Given the description of an element on the screen output the (x, y) to click on. 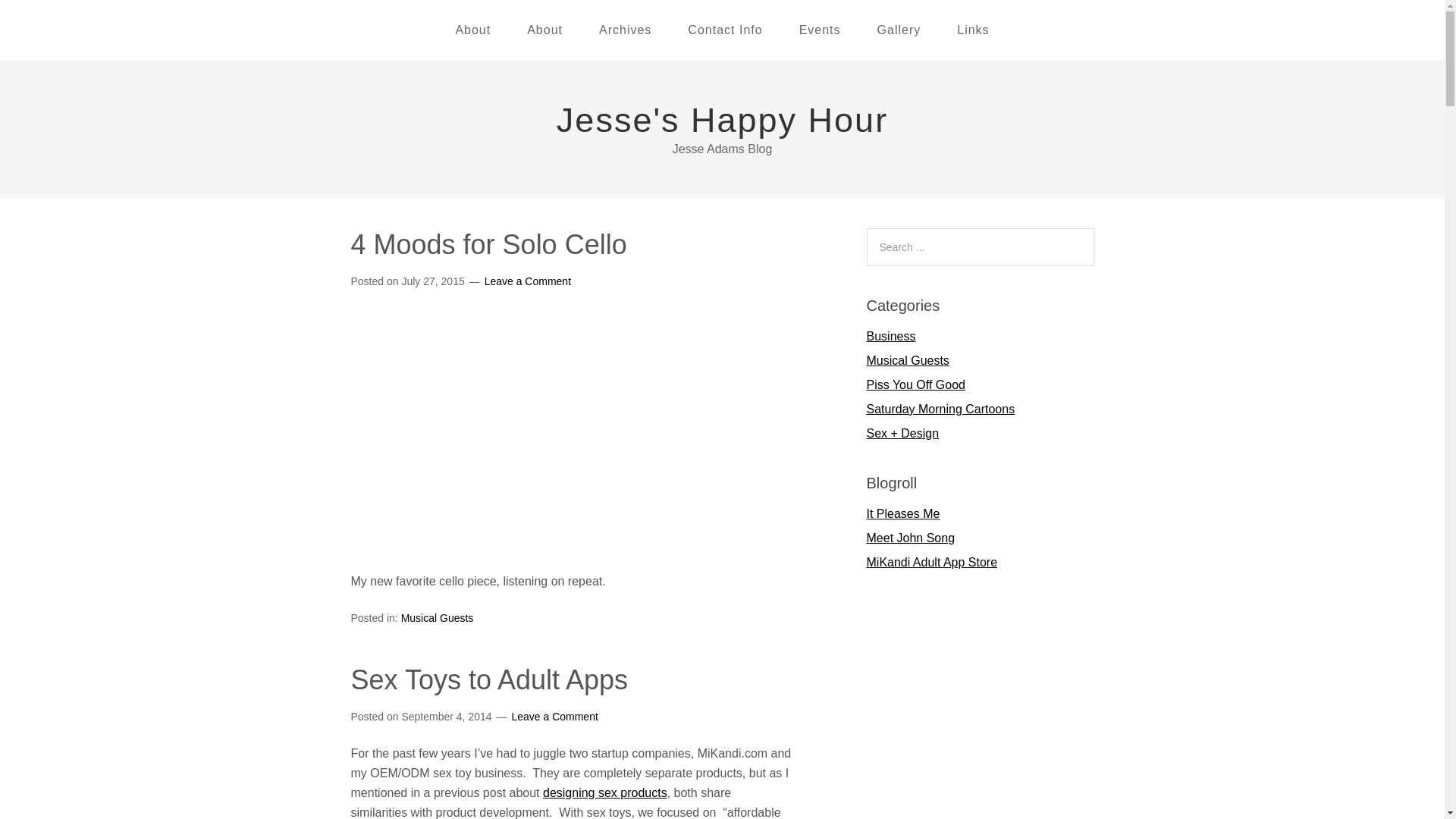
Adult App Store (931, 562)
Gallery (899, 30)
About (472, 30)
Monday, July 27, 2015, 8:16 pm (432, 281)
Contact Info (724, 30)
Archives (624, 30)
Search for: (979, 247)
4 Moods for Solo Cello (488, 244)
Leave a Comment (553, 716)
Musical Guests (437, 618)
